Given the description of an element on the screen output the (x, y) to click on. 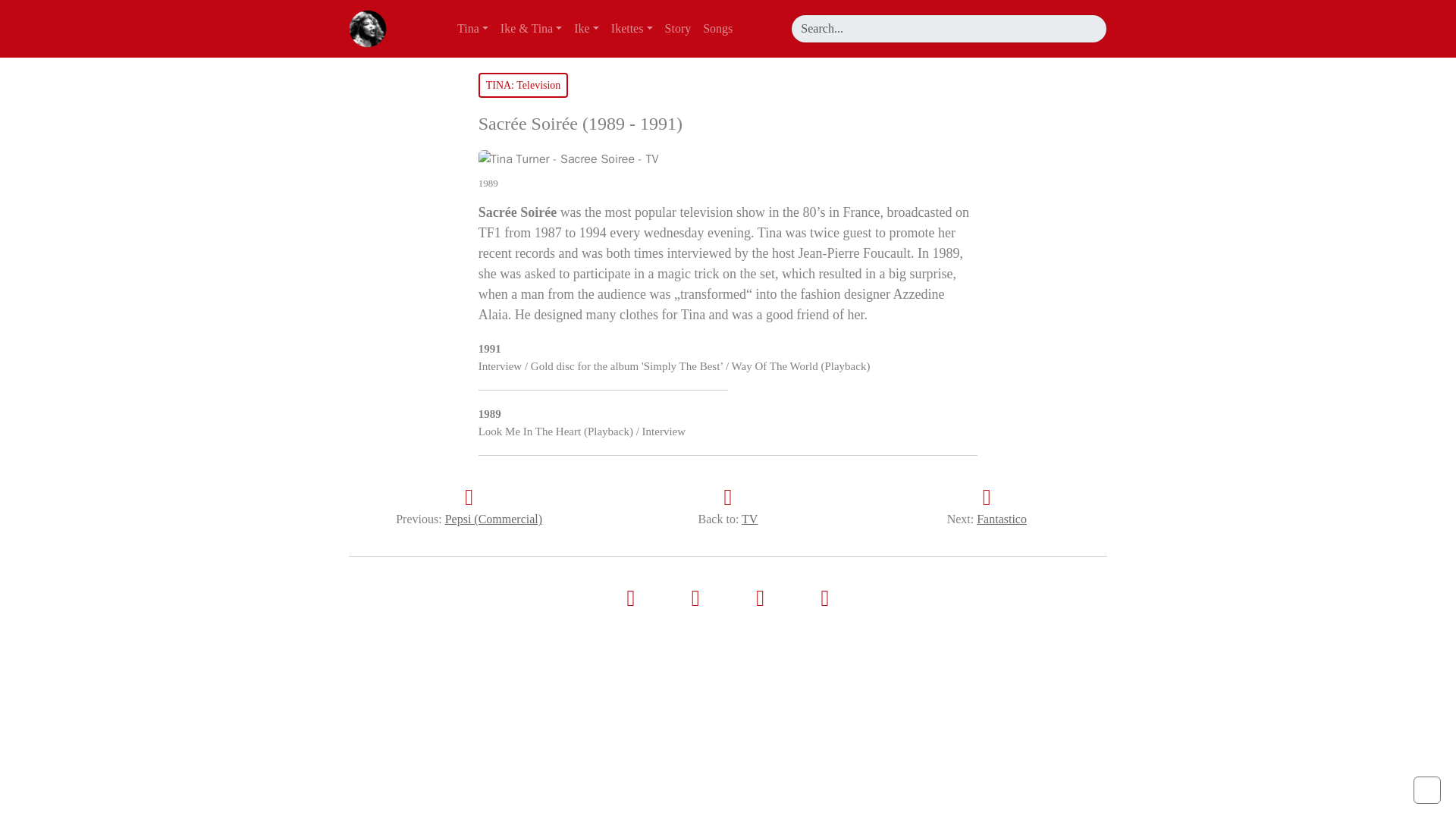
Songs (717, 28)
TINA: Television (524, 84)
Tina (473, 28)
Ike (586, 28)
Ikettes (632, 28)
Story (678, 28)
TV (749, 518)
Fantastico (1001, 518)
